Given the description of an element on the screen output the (x, y) to click on. 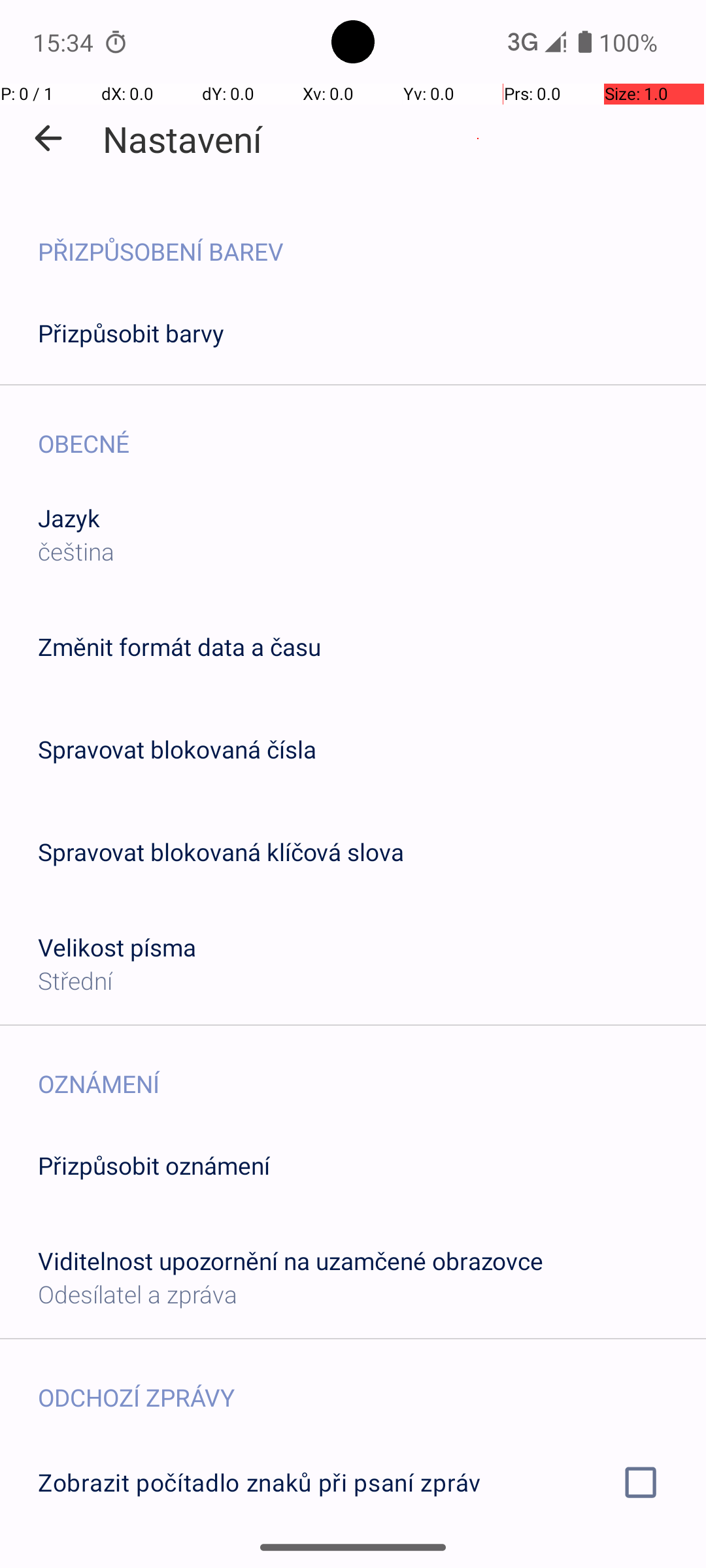
PŘIZPŮSOBENÍ BAREV Element type: android.widget.TextView (371, 237)
OBECNÉ Element type: android.widget.TextView (371, 429)
OZNÁMENÍ Element type: android.widget.TextView (371, 1069)
ODCHOZÍ ZPRÁVY Element type: android.widget.TextView (371, 1383)
Přizpůsobit barvy Element type: android.widget.TextView (130, 332)
Jazyk Element type: android.widget.TextView (68, 517)
čeština Element type: android.widget.TextView (75, 550)
Změnit formát data a času Element type: android.widget.TextView (178, 646)
Spravovat blokovaná čísla Element type: android.widget.TextView (176, 748)
Spravovat blokovaná klíčová slova Element type: android.widget.TextView (220, 851)
Velikost písma Element type: android.widget.TextView (116, 946)
Střední Element type: android.widget.TextView (74, 979)
Přizpůsobit oznámení Element type: android.widget.TextView (153, 1164)
Viditelnost upozornění na uzamčené obrazovce Element type: android.widget.TextView (290, 1260)
Odesílatel a zpráva Element type: android.widget.TextView (137, 1293)
Zobrazit počítadlo znaků při psaní zpráv Element type: android.widget.CheckBox (352, 1482)
Odstranit diakritiku při odesílání zprávy Element type: android.widget.CheckBox (352, 1559)
